Given the description of an element on the screen output the (x, y) to click on. 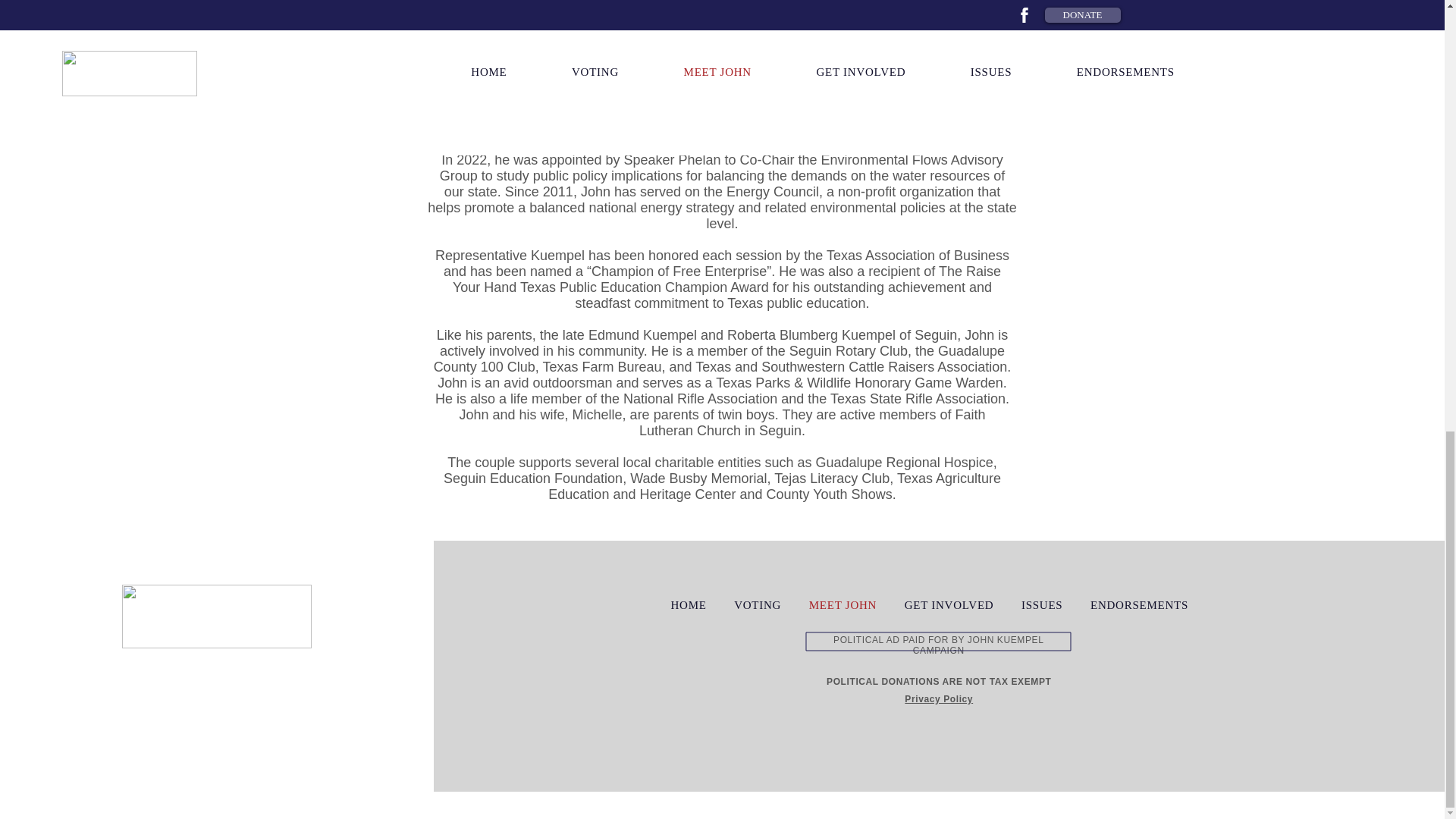
Privacy Policy (938, 698)
VOTING (757, 605)
ENDORSEMENTS (1139, 605)
ISSUES (1042, 605)
MEET JOHN (841, 605)
GET INVOLVED (948, 605)
HOME (688, 605)
